Given the description of an element on the screen output the (x, y) to click on. 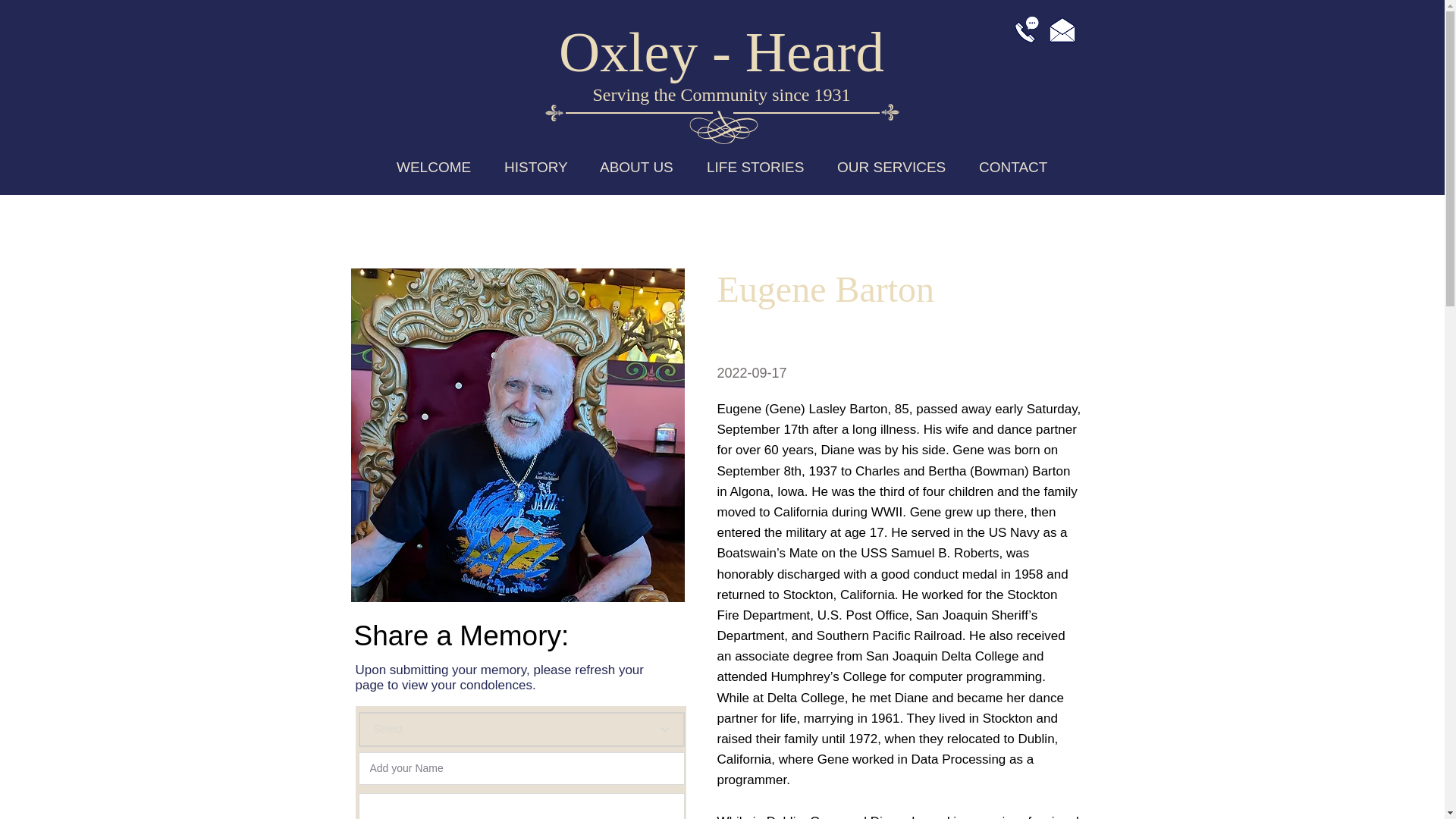
WELCOME (433, 167)
ABOUT US (636, 167)
Barton,EugeneObitPic.jpg (517, 434)
Serving the Community since 1931 (721, 94)
CONTACT (1013, 167)
LIFE STORIES (755, 167)
HISTORY (535, 167)
OUR SERVICES (891, 167)
Oxley - Heard (721, 51)
